Given the description of an element on the screen output the (x, y) to click on. 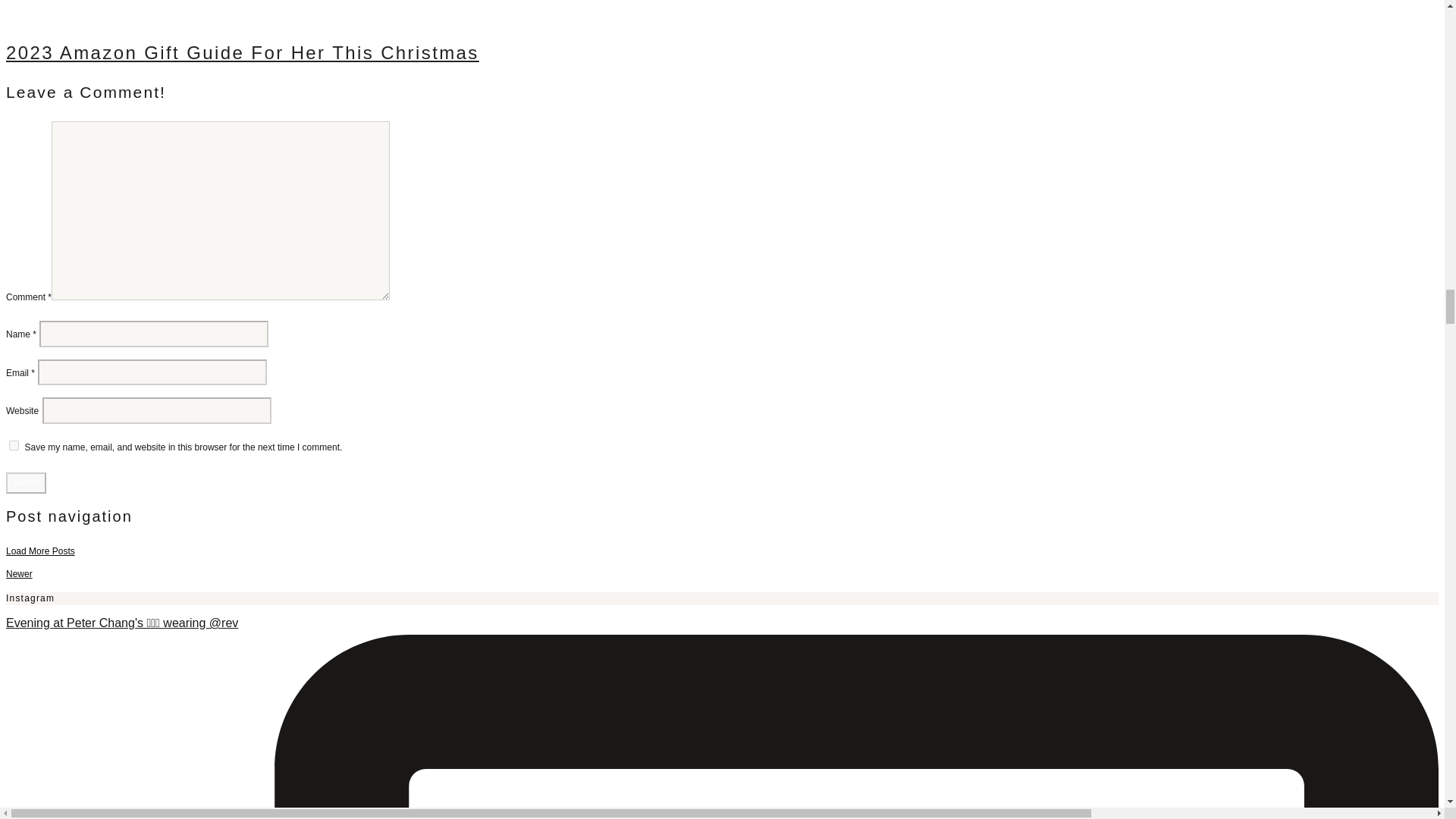
yes (13, 445)
Submit (25, 482)
